Given the description of an element on the screen output the (x, y) to click on. 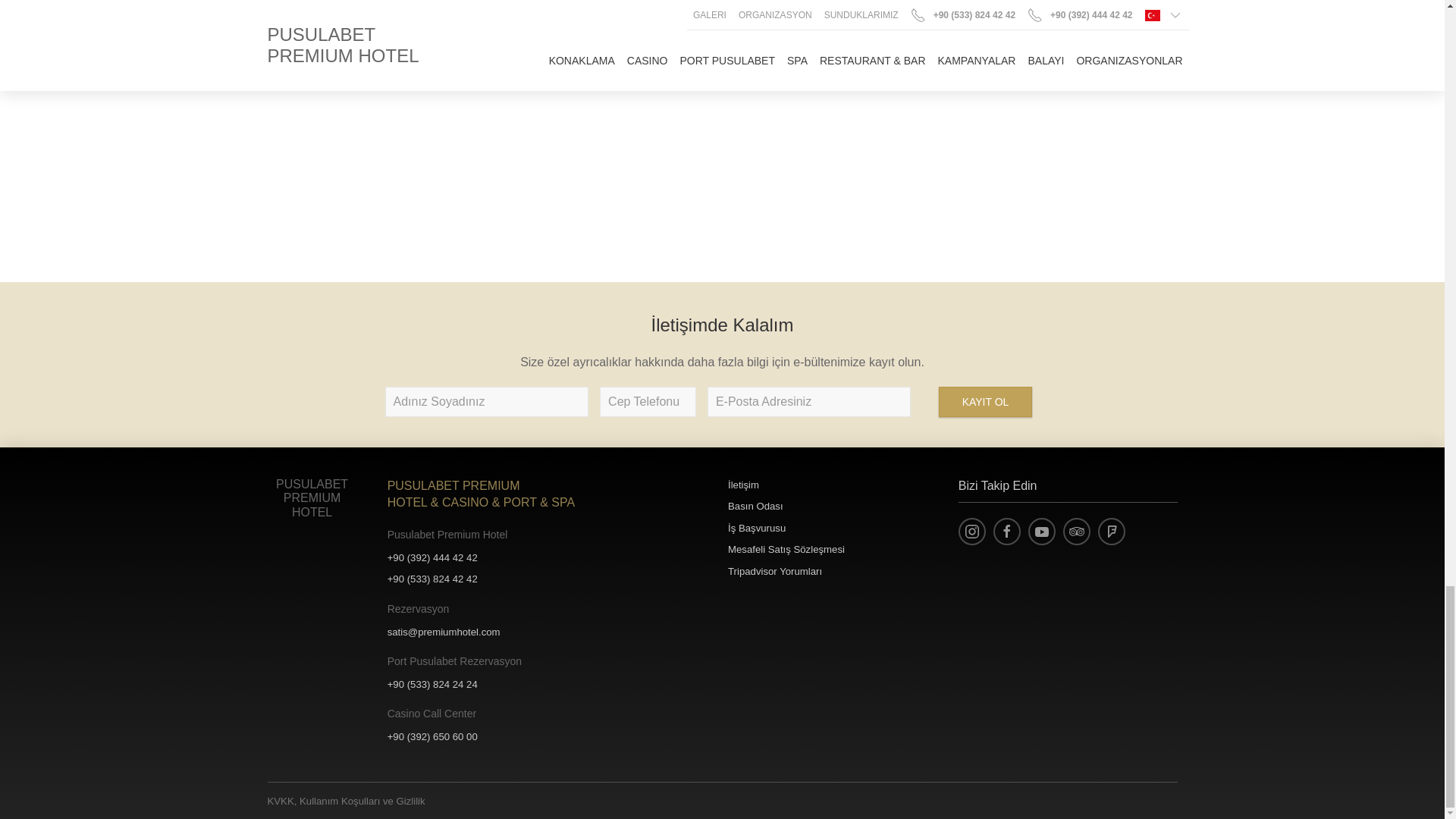
KAYIT OL (985, 401)
